Given the description of an element on the screen output the (x, y) to click on. 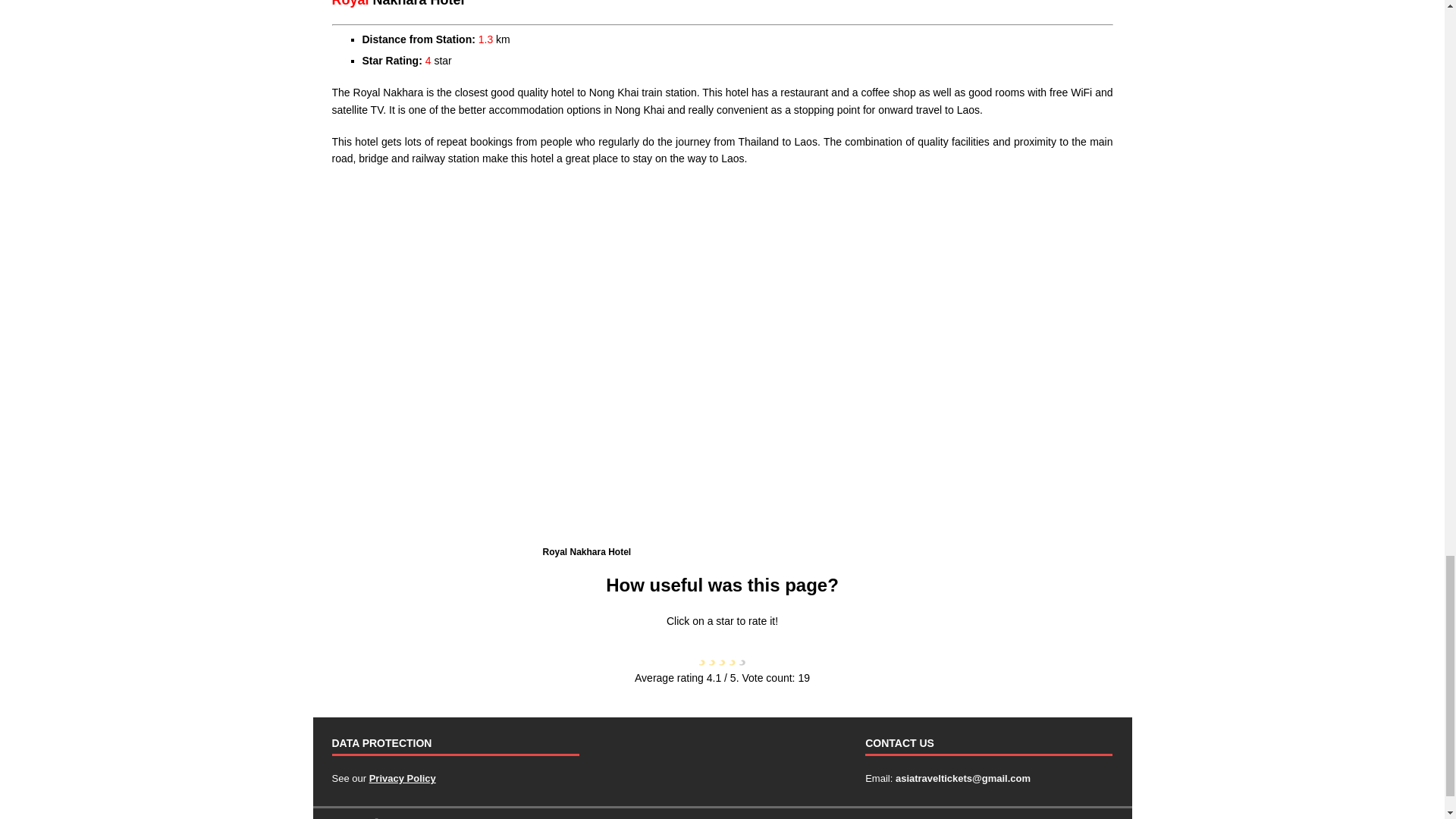
E-mail Thailand Trains (962, 778)
Privacy Policy (402, 778)
